Given the description of an element on the screen output the (x, y) to click on. 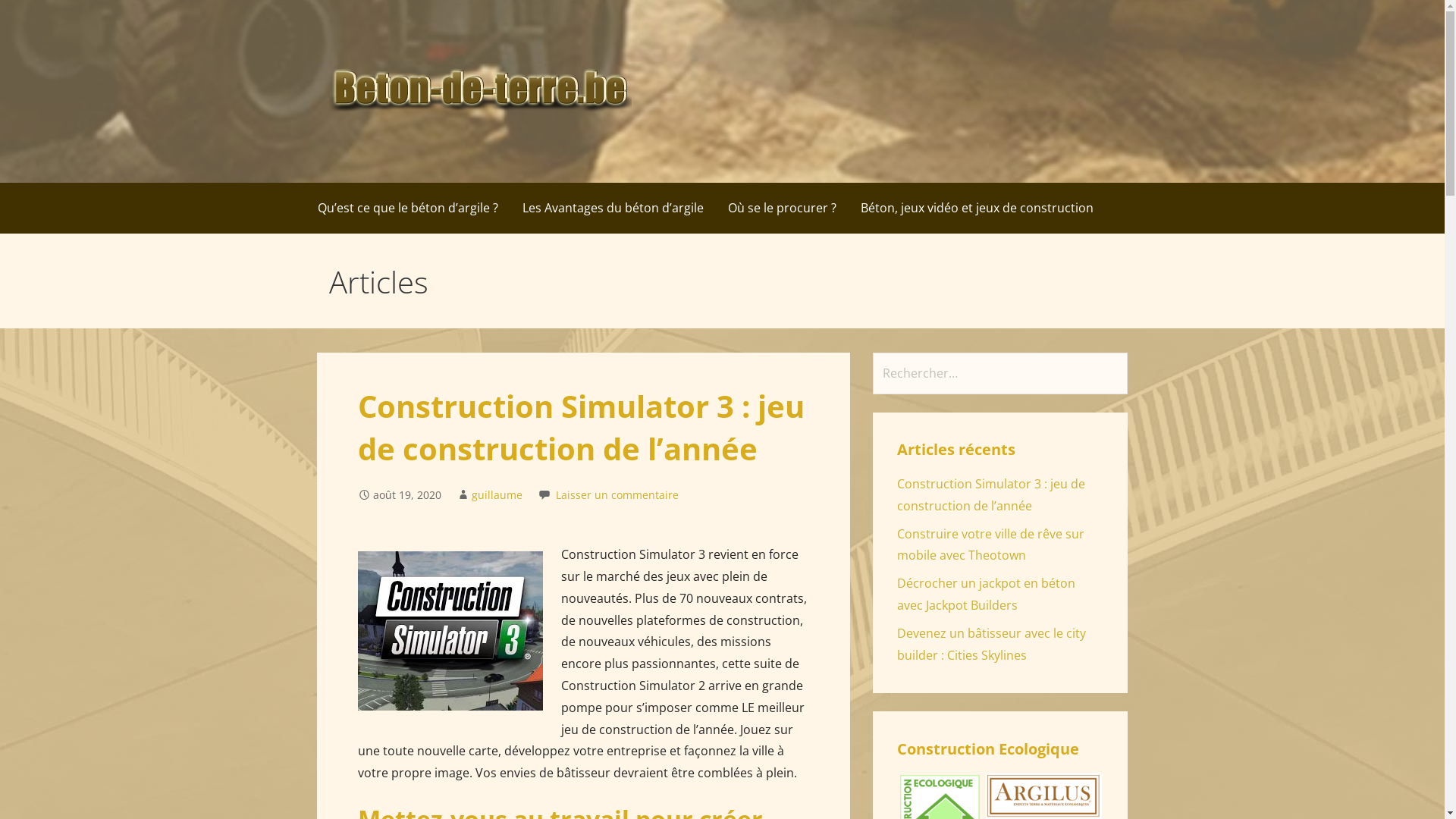
beton-de-terre.be Element type: text (430, 150)
Laisser un commentaire Element type: text (616, 494)
Rechercher Element type: text (45, 15)
Passer au contenu Element type: text (0, 0)
guillaume Element type: text (496, 494)
